Given the description of an element on the screen output the (x, y) to click on. 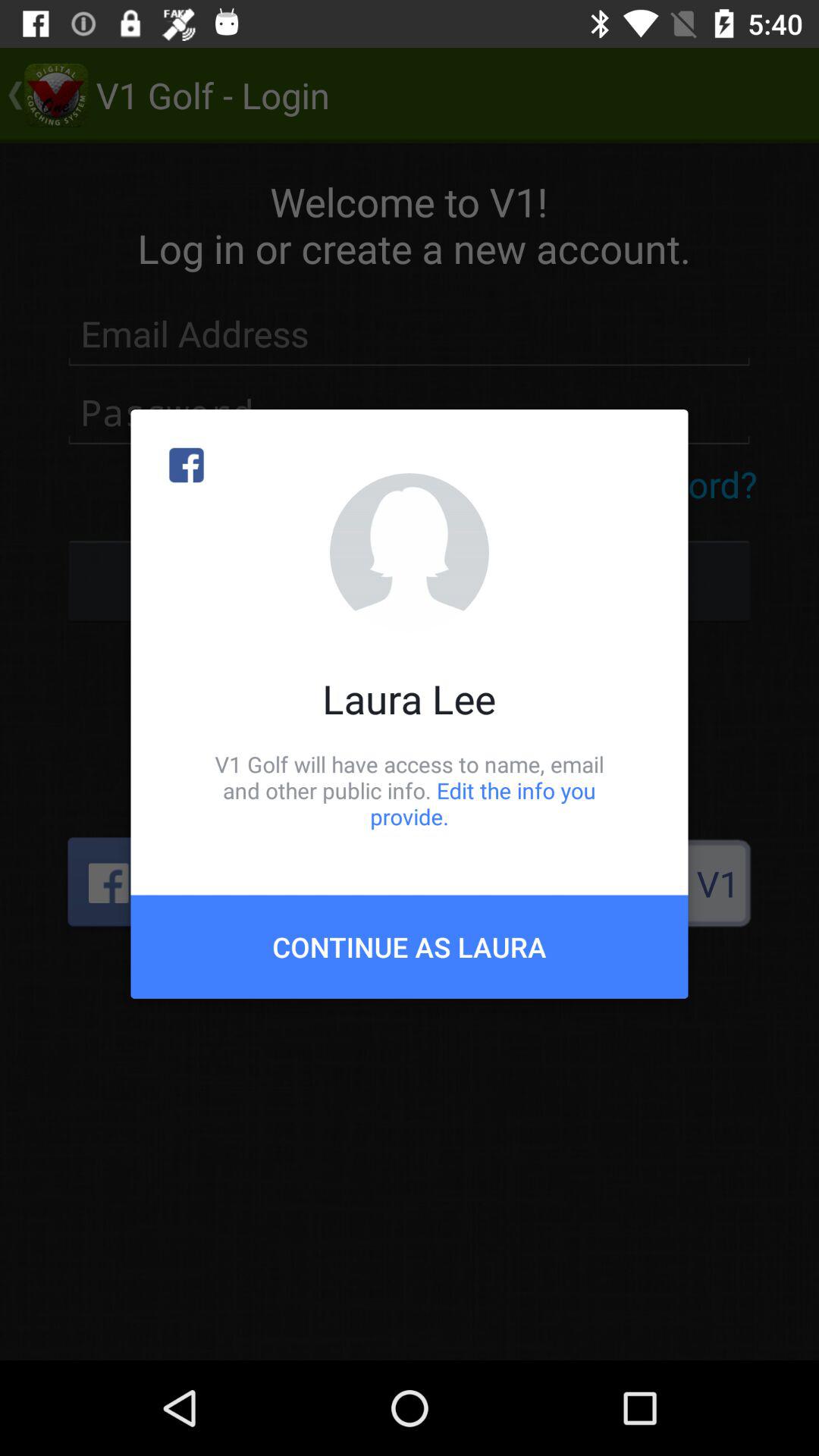
jump until the continue as laura icon (409, 946)
